Given the description of an element on the screen output the (x, y) to click on. 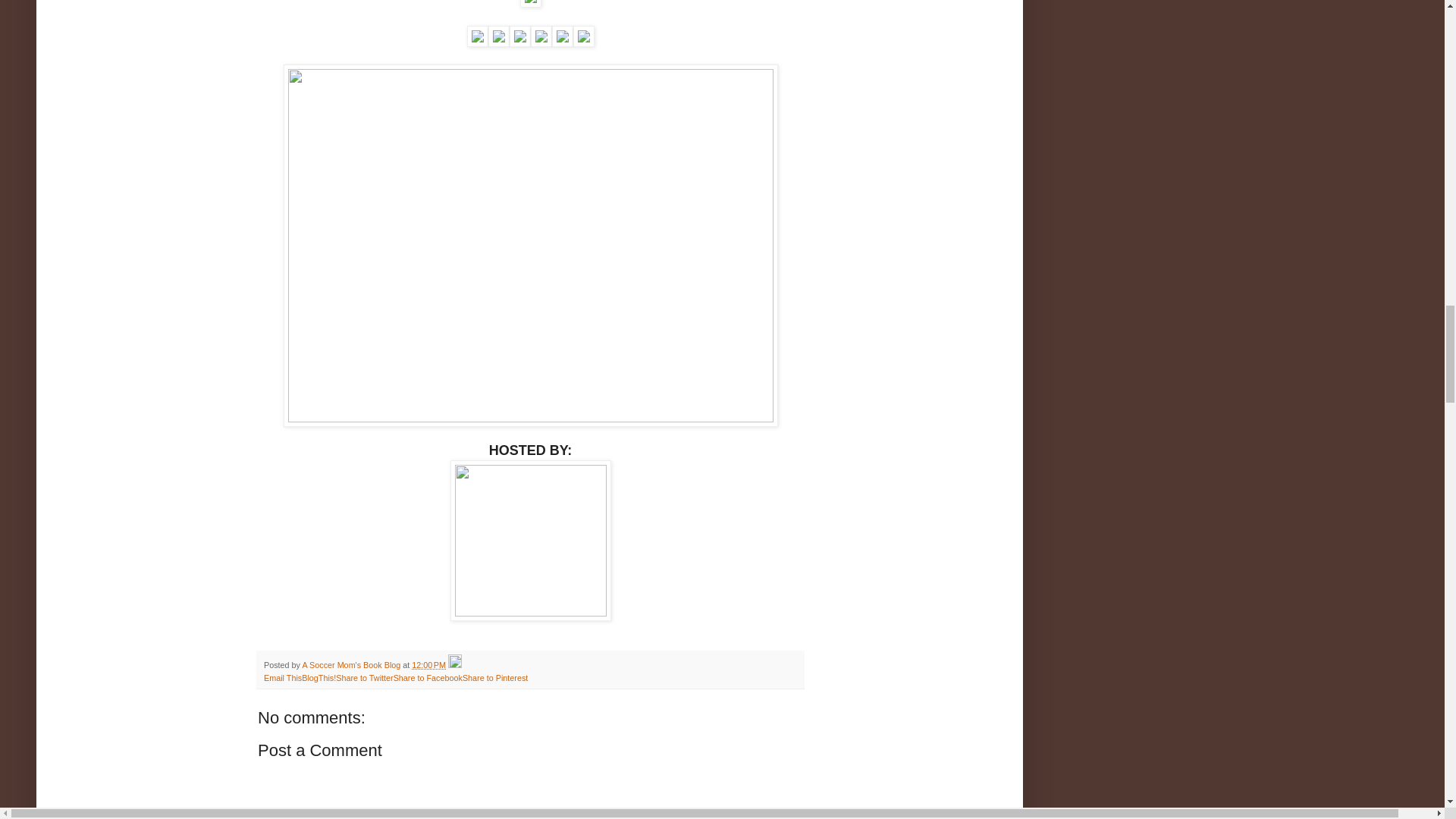
A Soccer Mom's Book Blog (352, 664)
Share to Twitter (364, 677)
Email This (282, 677)
permanent link (428, 664)
Email This (282, 677)
Share to Facebook (428, 677)
BlogThis! (318, 677)
BlogThis! (318, 677)
Share to Facebook (428, 677)
Share to Twitter (364, 677)
author profile (352, 664)
Share to Pinterest (495, 677)
Edit Post (454, 664)
Share to Pinterest (495, 677)
